Given the description of an element on the screen output the (x, y) to click on. 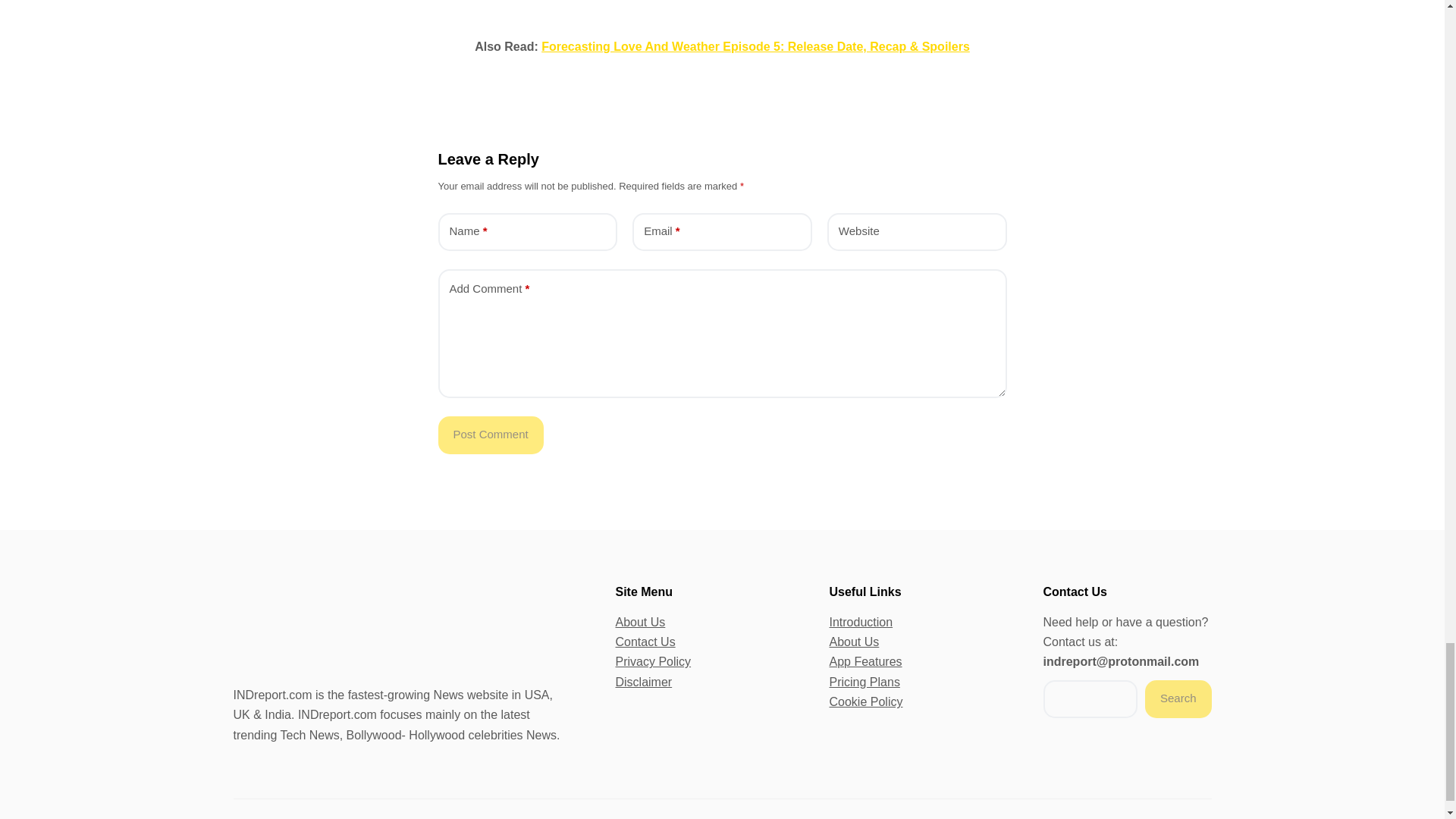
Advertisement (722, 6)
